Given the description of an element on the screen output the (x, y) to click on. 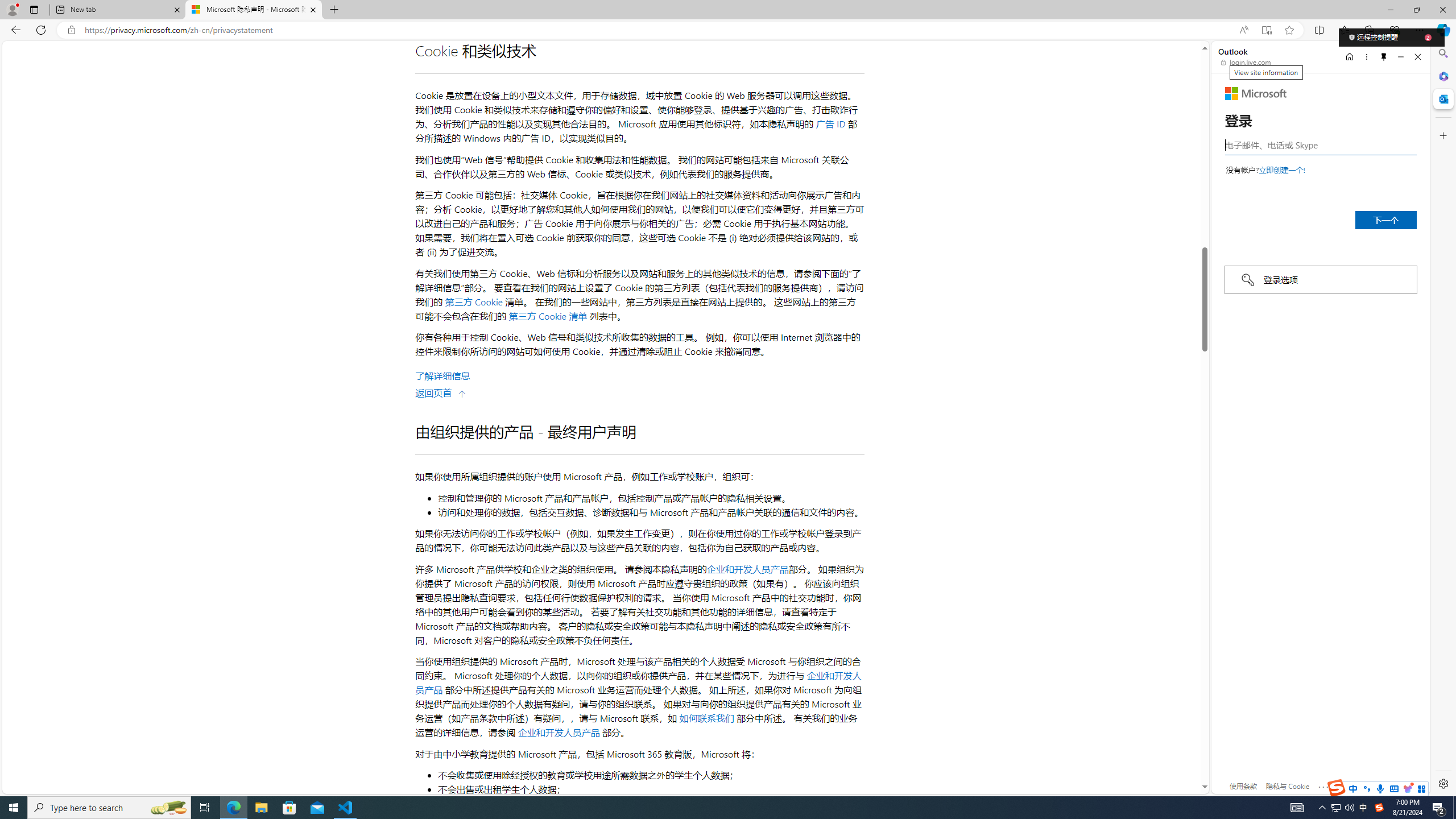
New tab (117, 9)
Microsoft 365 (1442, 76)
login.live.com (1246, 61)
Microsoft (1255, 93)
Enter Immersive Reader (F9) (1266, 29)
Settings (1442, 783)
